Given the description of an element on the screen output the (x, y) to click on. 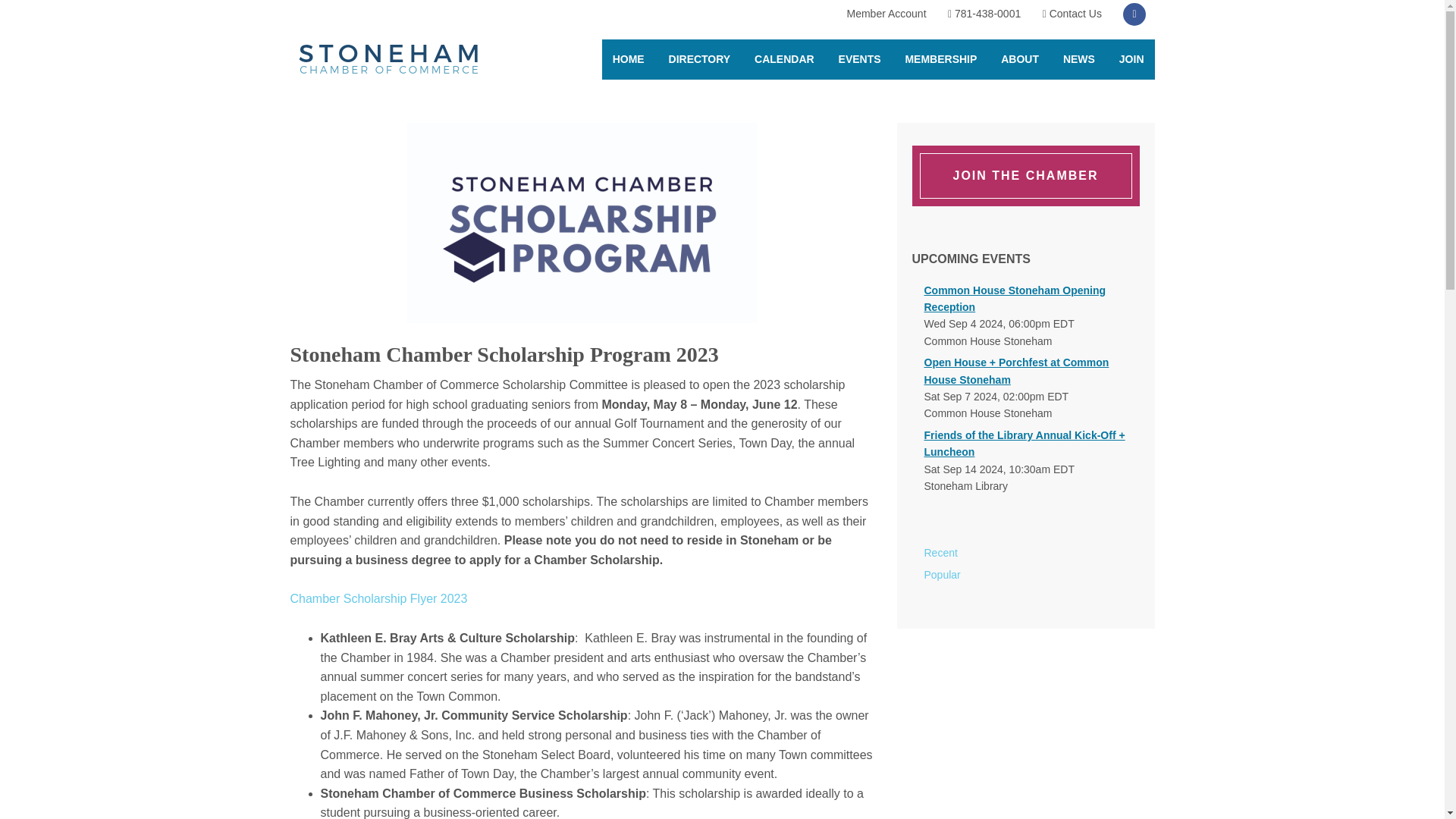
Member Account (885, 14)
EVENTS (859, 59)
MEMBERSHIP (940, 59)
HOME (628, 59)
781-438-0001 (984, 14)
Chamber Scholarship Flyer 2023 (378, 598)
CALENDAR (784, 59)
Stoneham MA Chamber of Commerce (387, 60)
DIRECTORY (699, 59)
ABOUT (1019, 59)
